Given the description of an element on the screen output the (x, y) to click on. 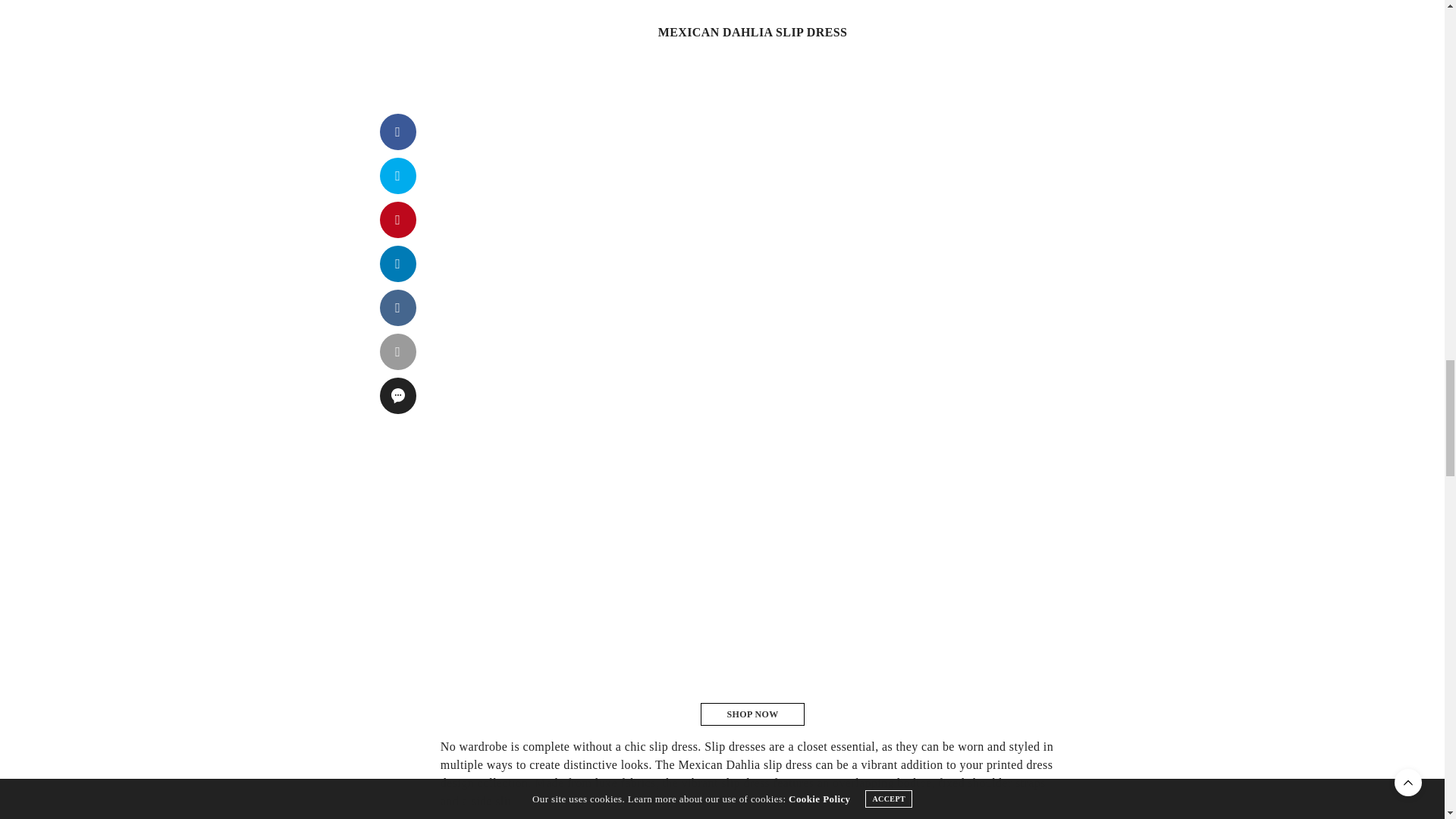
SHOP NOW (751, 713)
